Given the description of an element on the screen output the (x, y) to click on. 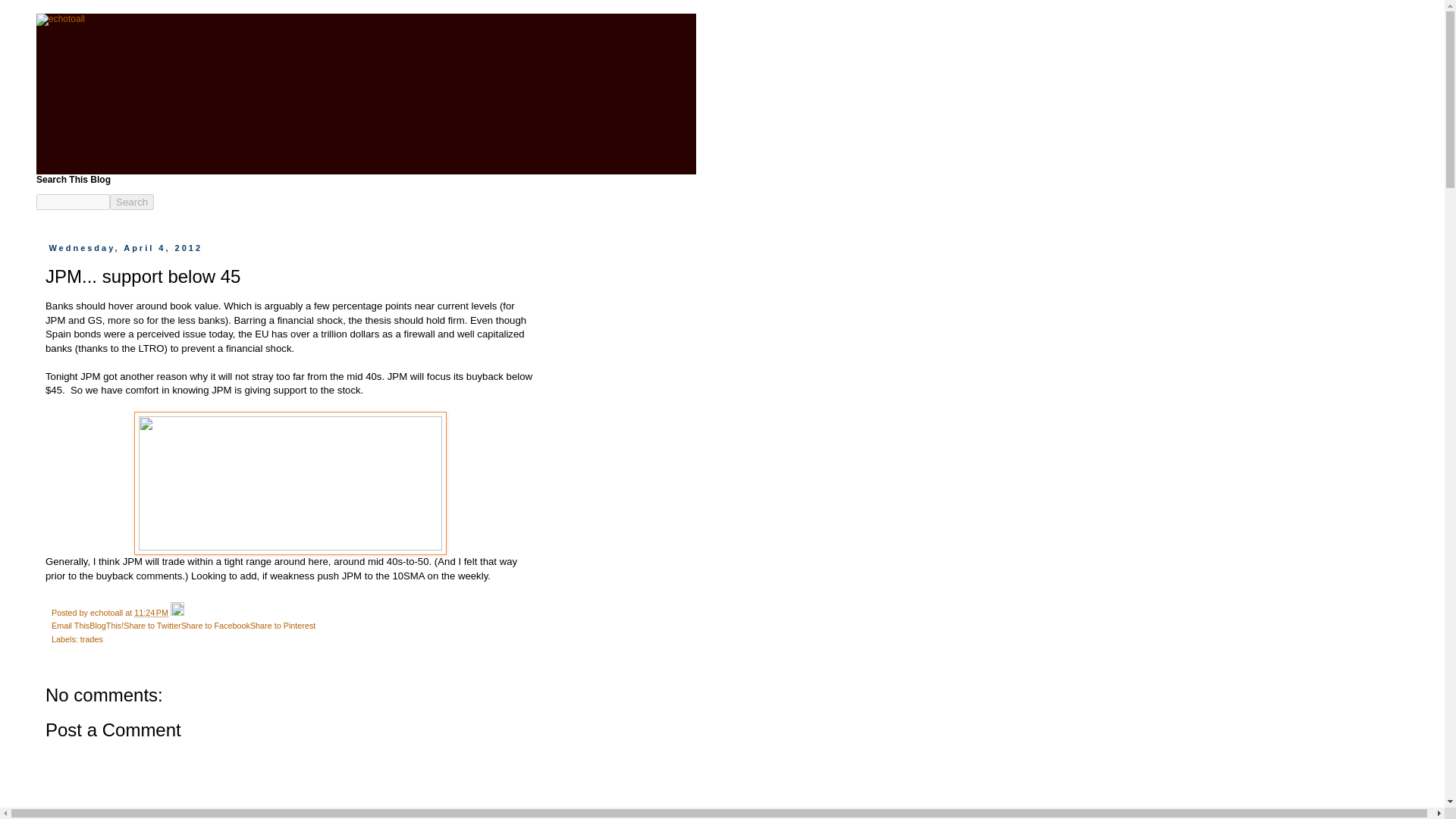
author profile (107, 612)
Email This (69, 624)
echotoall (107, 612)
Search (132, 201)
Share to Pinterest (282, 624)
Share to Pinterest (282, 624)
Share to Facebook (215, 624)
trades (91, 638)
search (132, 201)
Share to Twitter (151, 624)
Share to Twitter (151, 624)
permanent link (150, 612)
Search (132, 201)
Email This (69, 624)
